Given the description of an element on the screen output the (x, y) to click on. 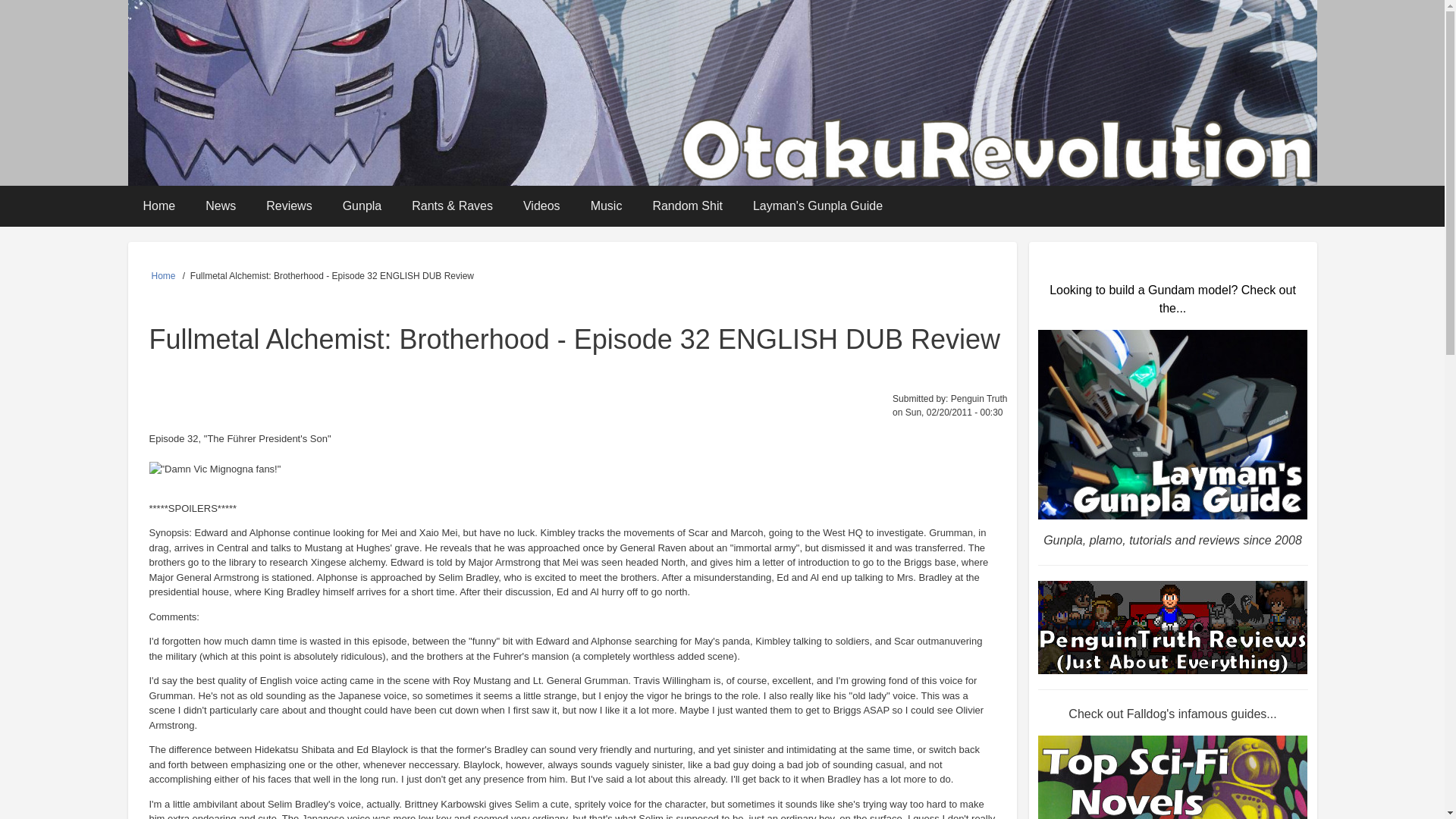
Videos (541, 205)
Music (606, 205)
News (220, 205)
Home (159, 205)
Home (163, 276)
Random Shit (687, 205)
Reviews (288, 205)
Gunpla (362, 205)
Layman's Gunpla Guide (818, 205)
